Given the description of an element on the screen output the (x, y) to click on. 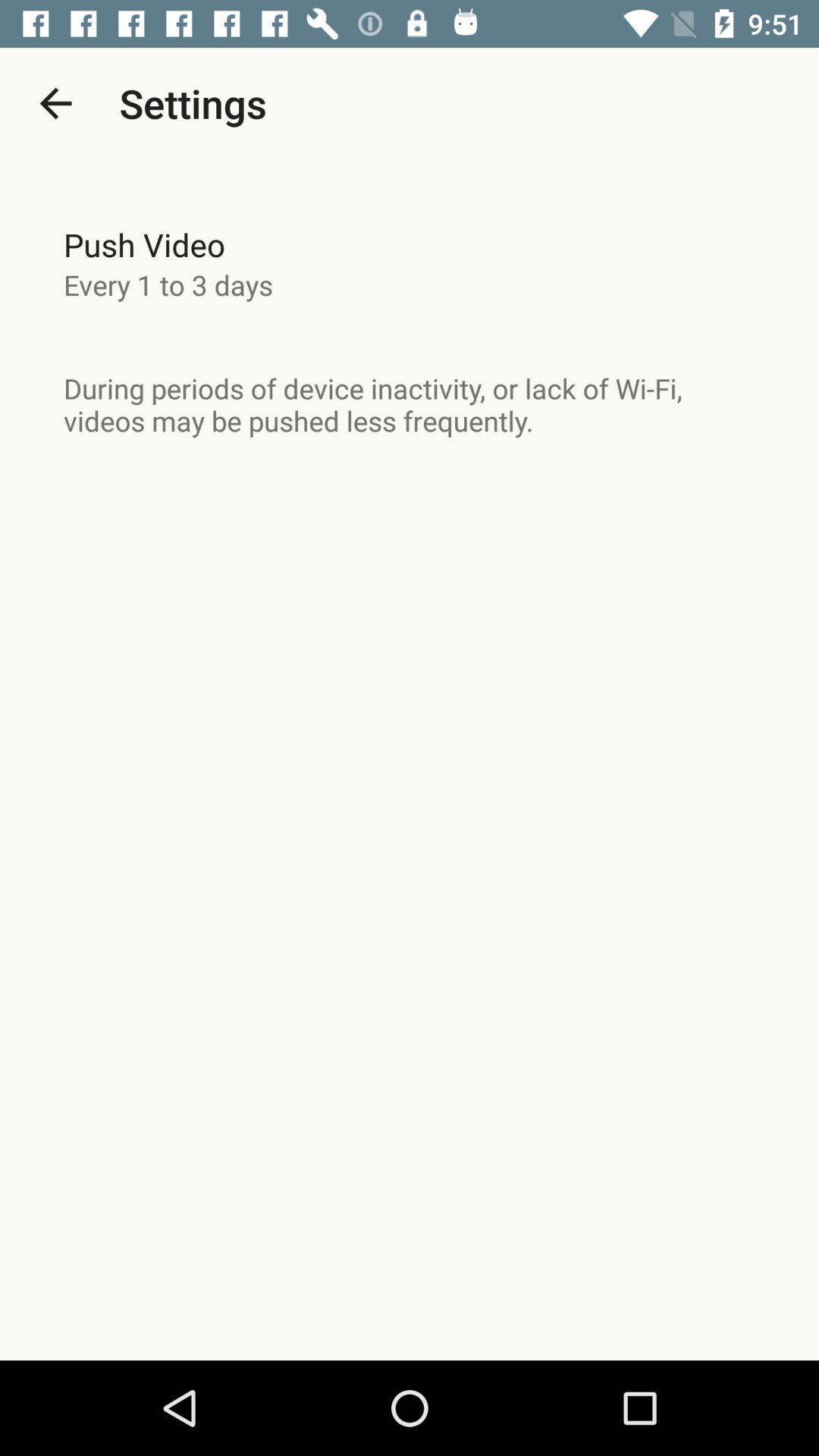
flip to the every 1 to icon (168, 284)
